Given the description of an element on the screen output the (x, y) to click on. 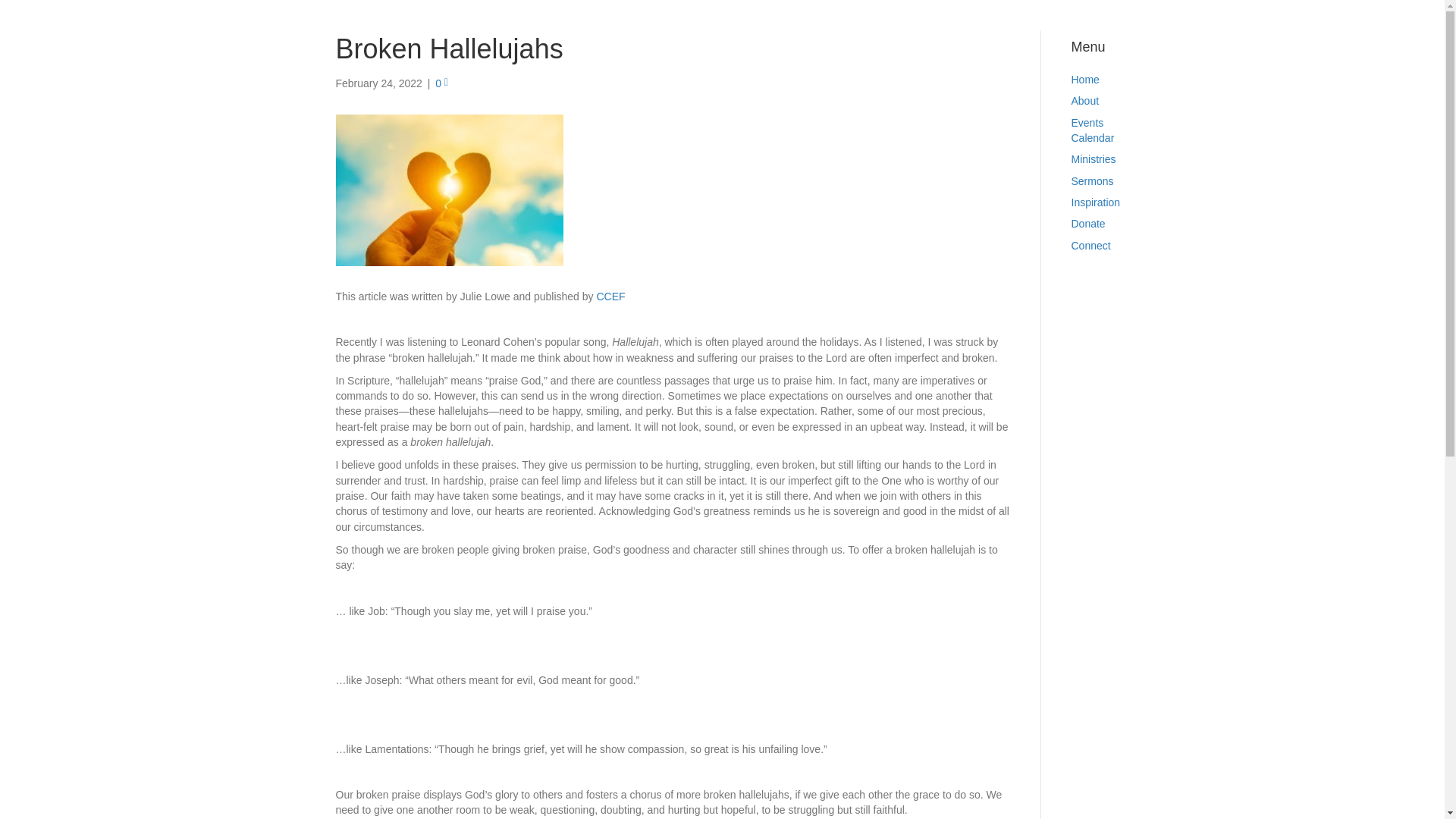
Ministries (1092, 159)
Donate (1087, 223)
CCEF (609, 296)
Events Calendar (1091, 130)
Connect (1089, 245)
Sermons (1091, 181)
Inspiration (1094, 202)
About (1084, 101)
Home (1084, 79)
0 (441, 82)
